Given the description of an element on the screen output the (x, y) to click on. 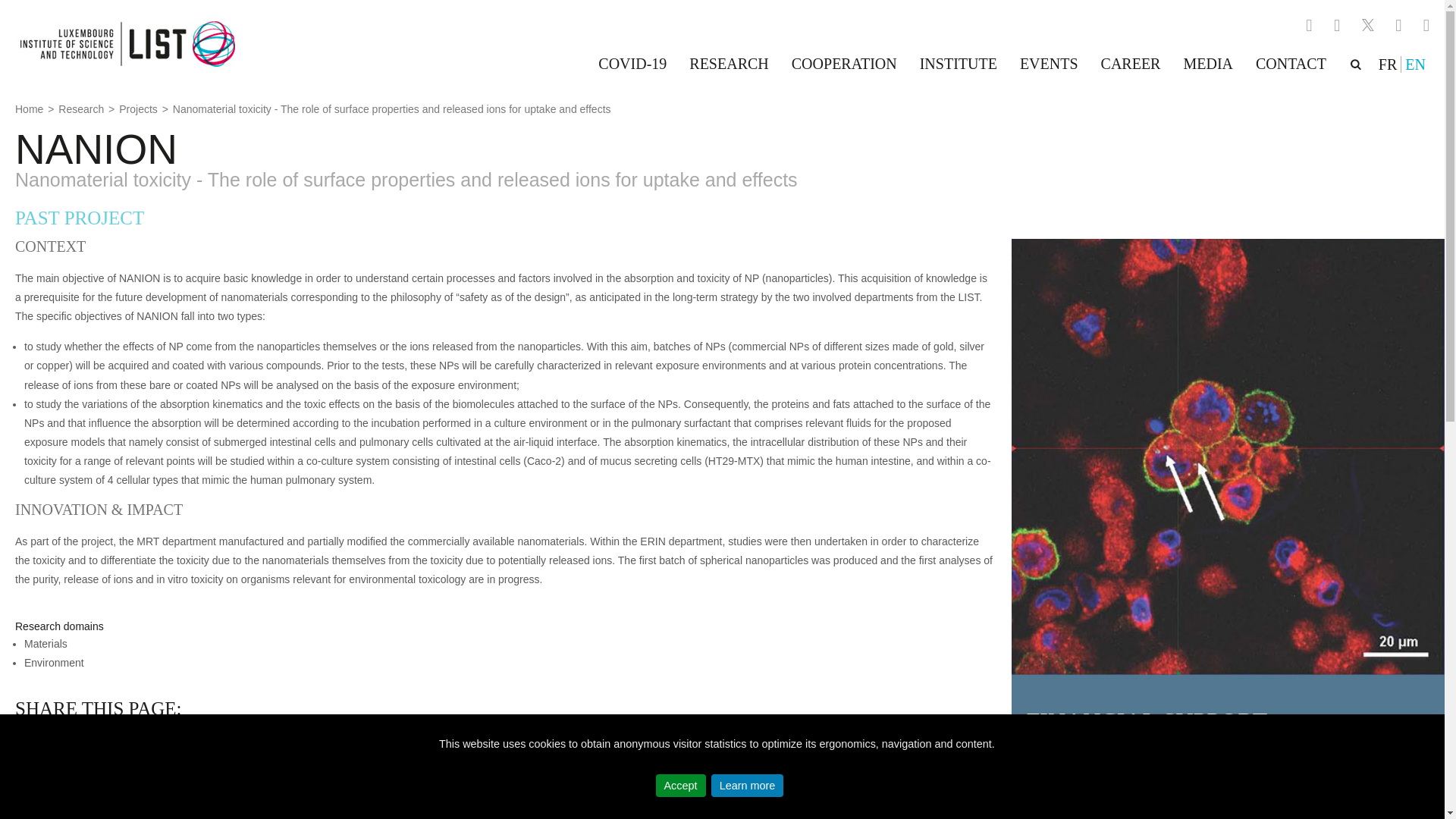
EN (1414, 64)
Accept cookies (681, 784)
Accept (681, 784)
FR (1387, 64)
COVID-19 (632, 63)
Learn more (747, 784)
COOPERATION (844, 63)
RESEARCH (728, 63)
